Given the description of an element on the screen output the (x, y) to click on. 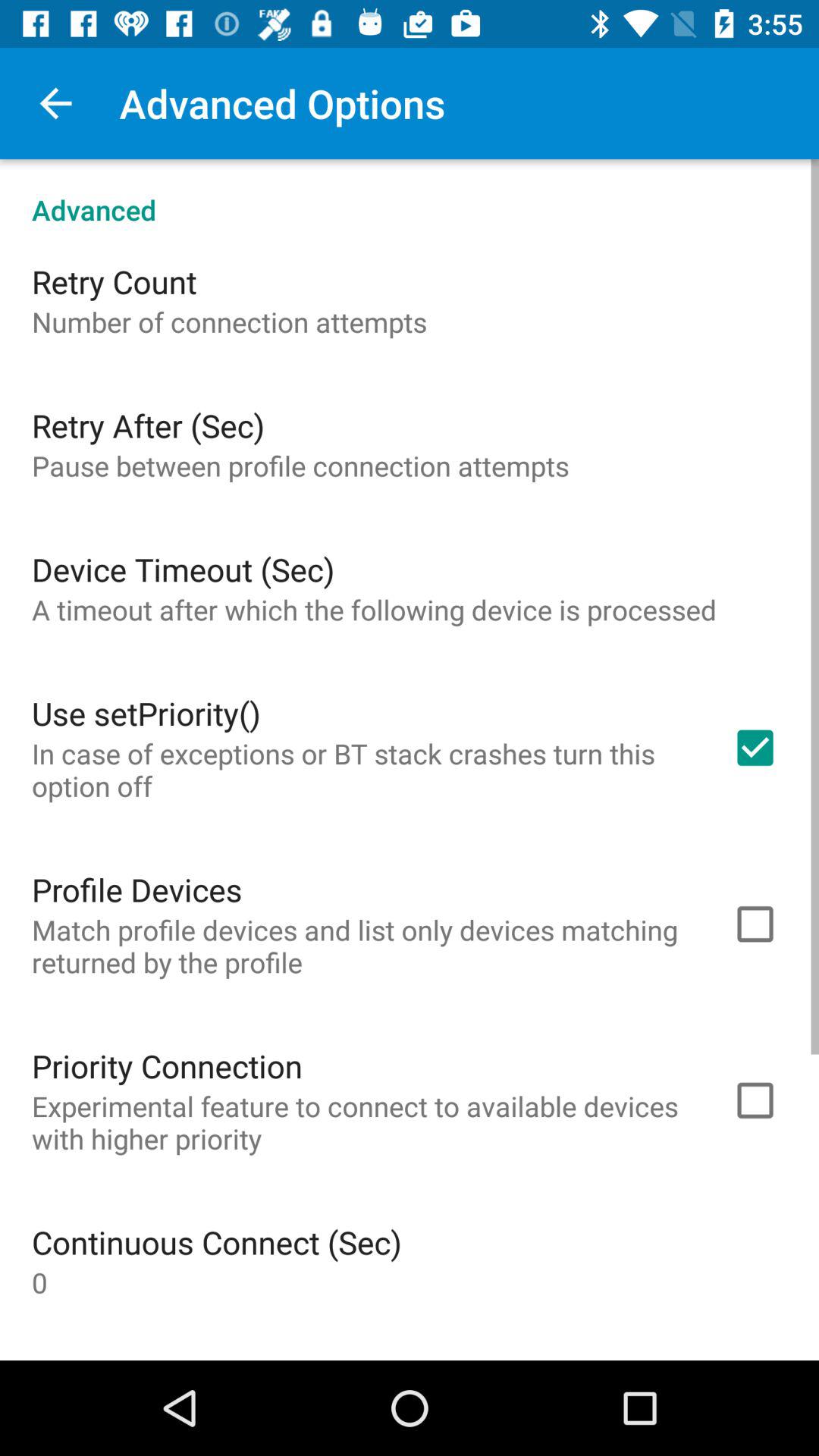
turn off icon below the retry after (sec) icon (300, 465)
